Given the description of an element on the screen output the (x, y) to click on. 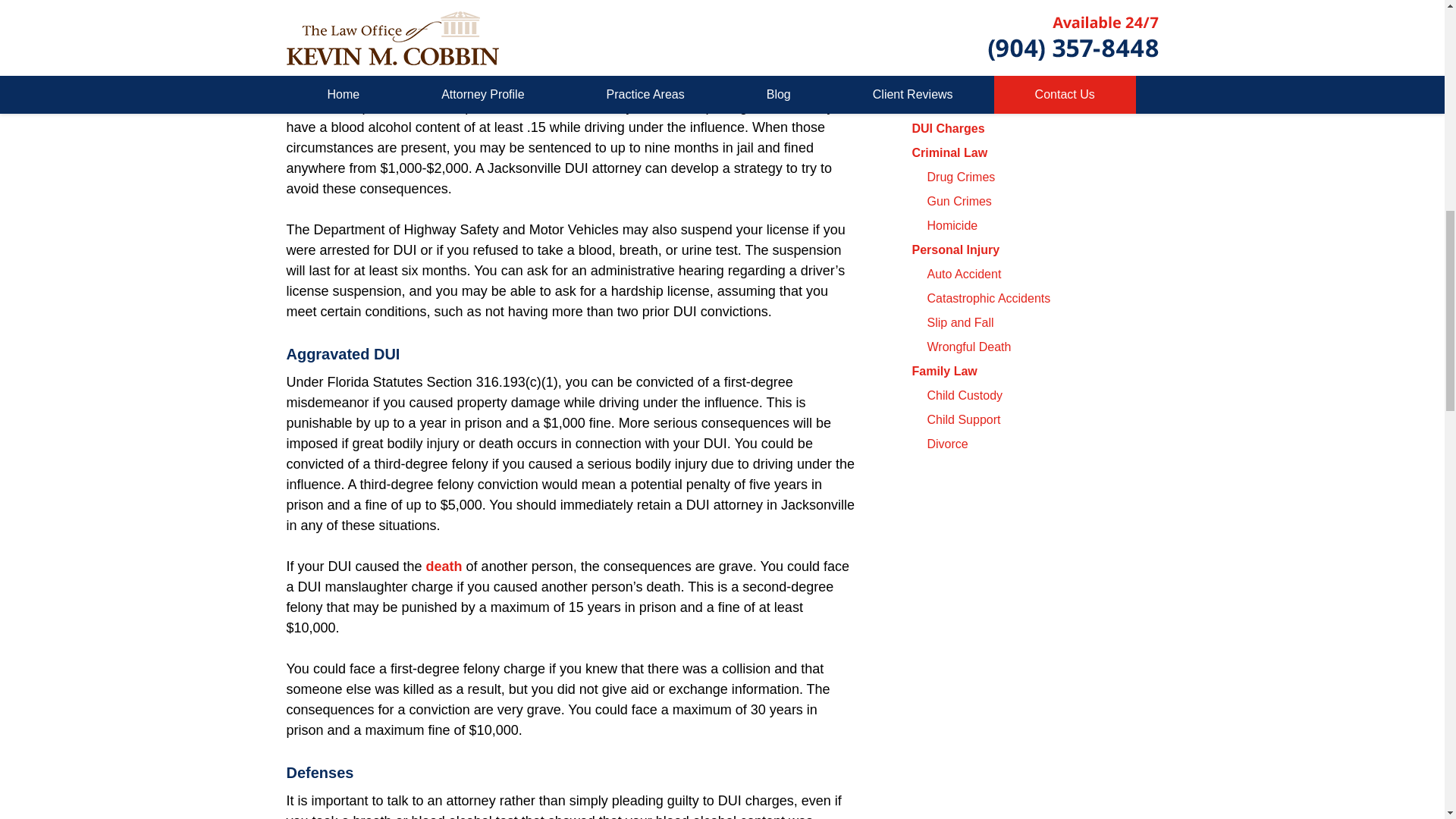
Auto Accident (958, 274)
Personal Injury (954, 249)
Criminal Law (949, 152)
Catastrophic Accidents (983, 298)
death (444, 566)
Drug Crimes (955, 177)
Slip and Fall (954, 322)
Family Law (943, 370)
Homicide (946, 226)
Divorce (941, 443)
